Given the description of an element on the screen output the (x, y) to click on. 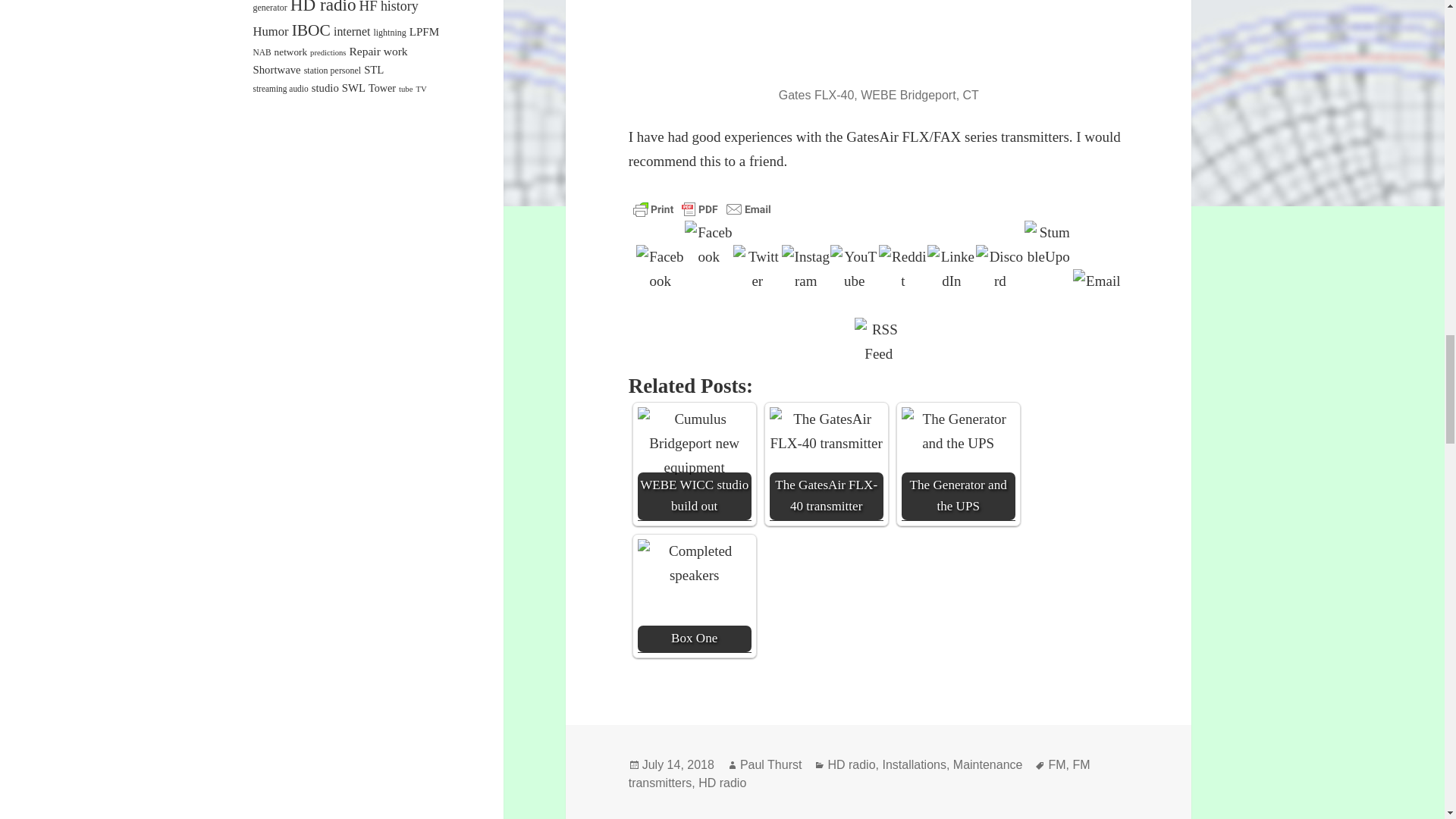
Facebook (660, 268)
Discord (1000, 268)
Email (1097, 293)
StumbleUpon (1049, 244)
YouTube (854, 268)
Facebook Group (708, 244)
Reddit (903, 268)
LinkedIn (951, 268)
Twitter (757, 268)
Instagram (805, 268)
